Given the description of an element on the screen output the (x, y) to click on. 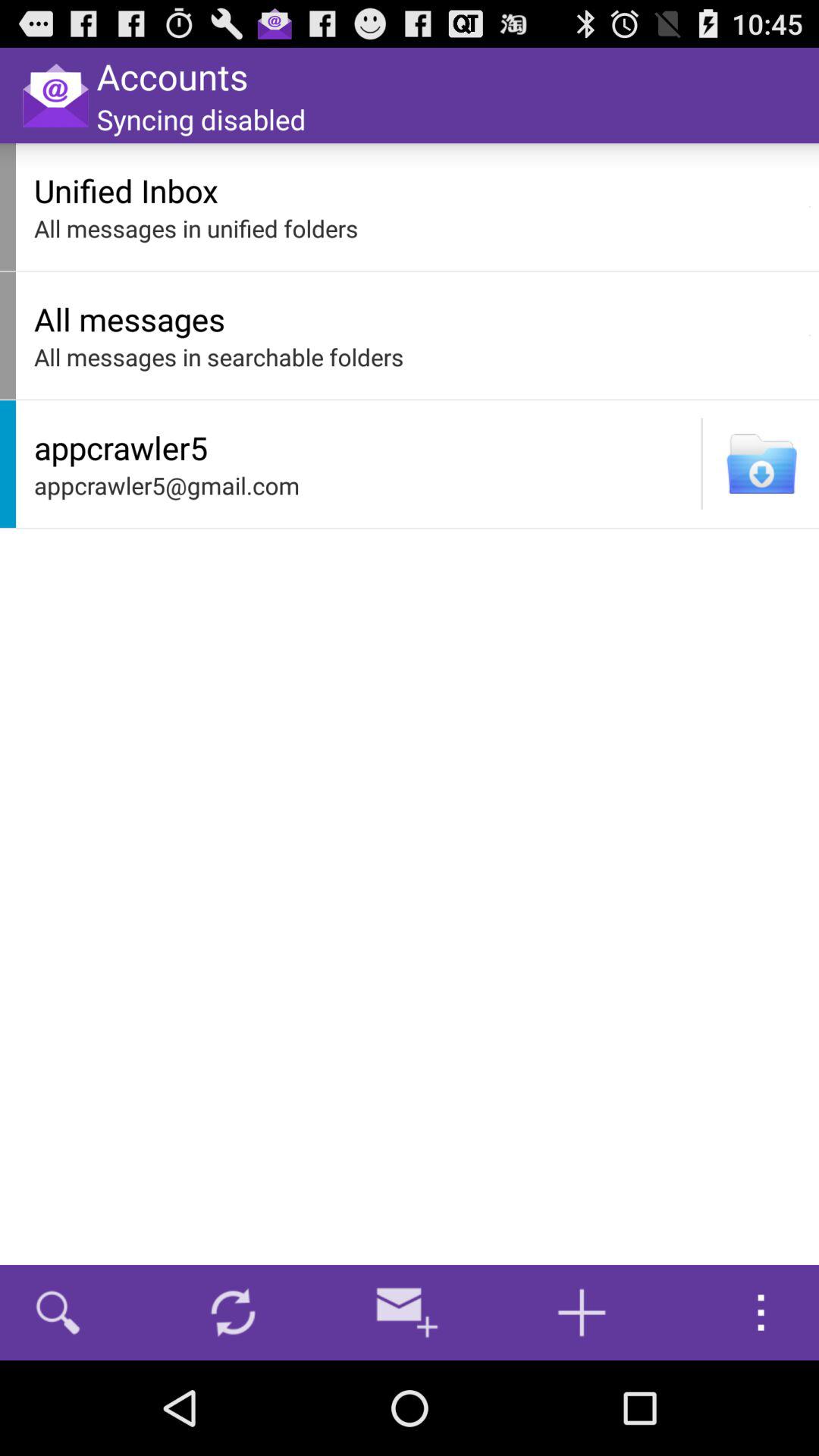
click the app above all messages in app (809, 206)
